Given the description of an element on the screen output the (x, y) to click on. 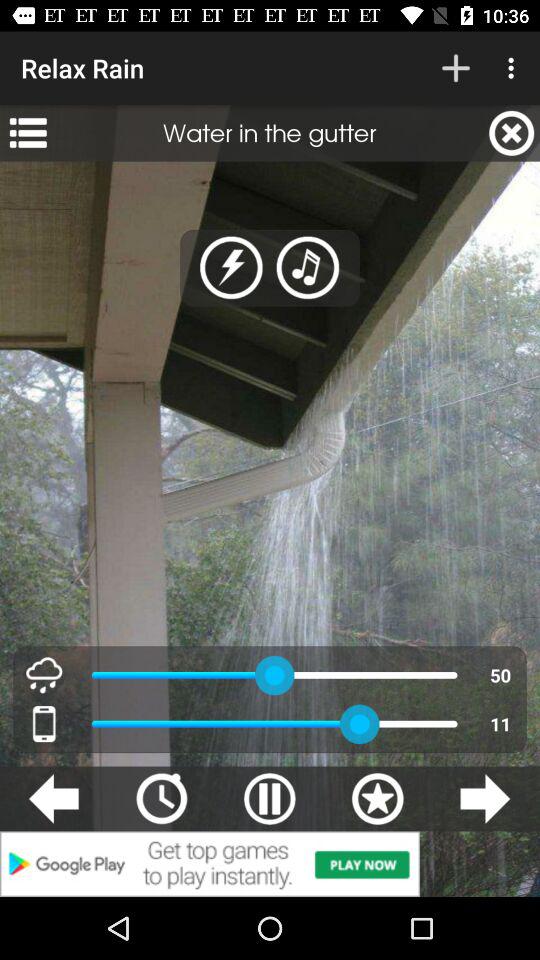
press icon next to water in the item (511, 133)
